Given the description of an element on the screen output the (x, y) to click on. 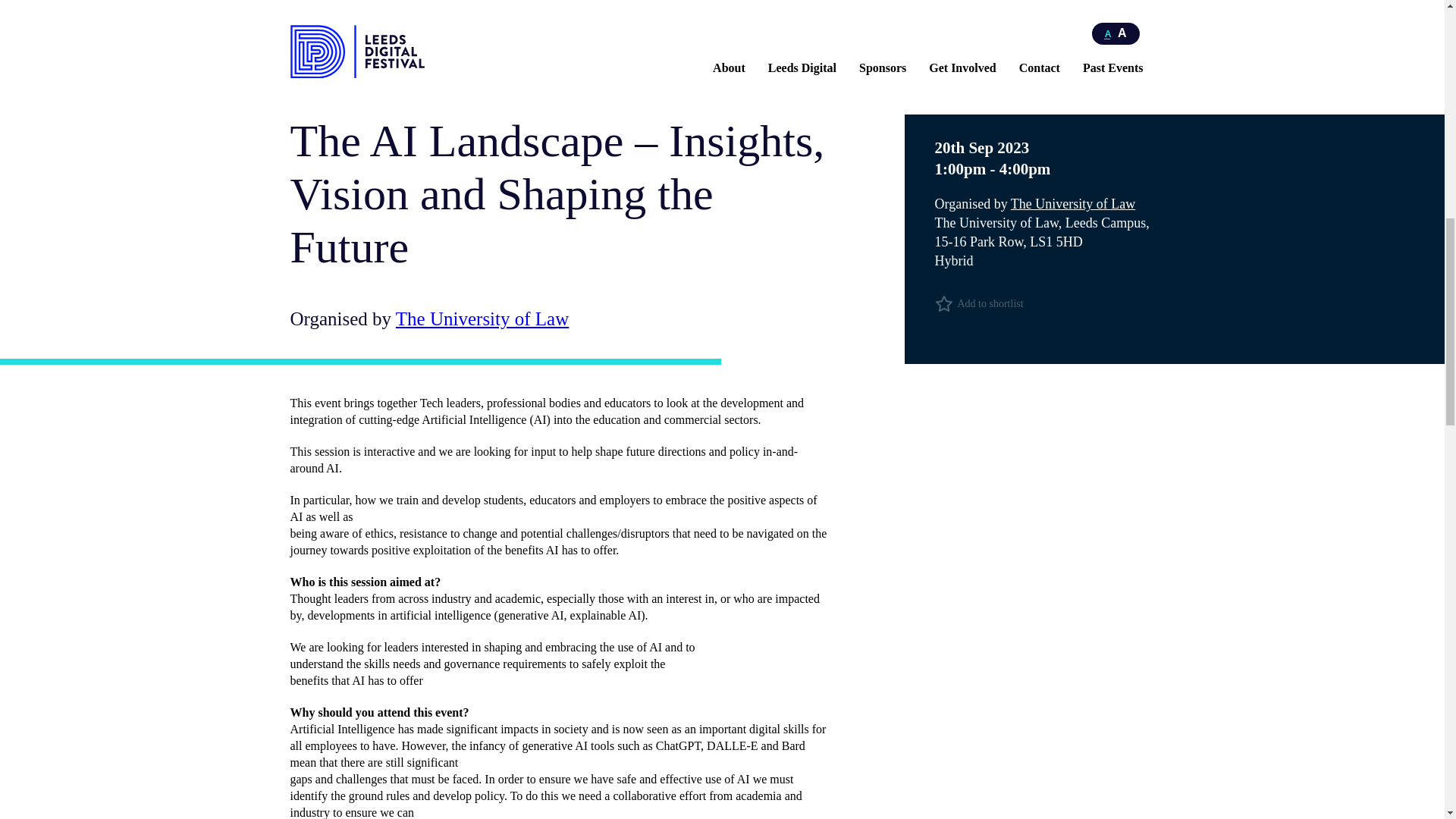
Add to shortlist (1044, 303)
The University of Law (482, 318)
The University of Law (1072, 203)
